Given the description of an element on the screen output the (x, y) to click on. 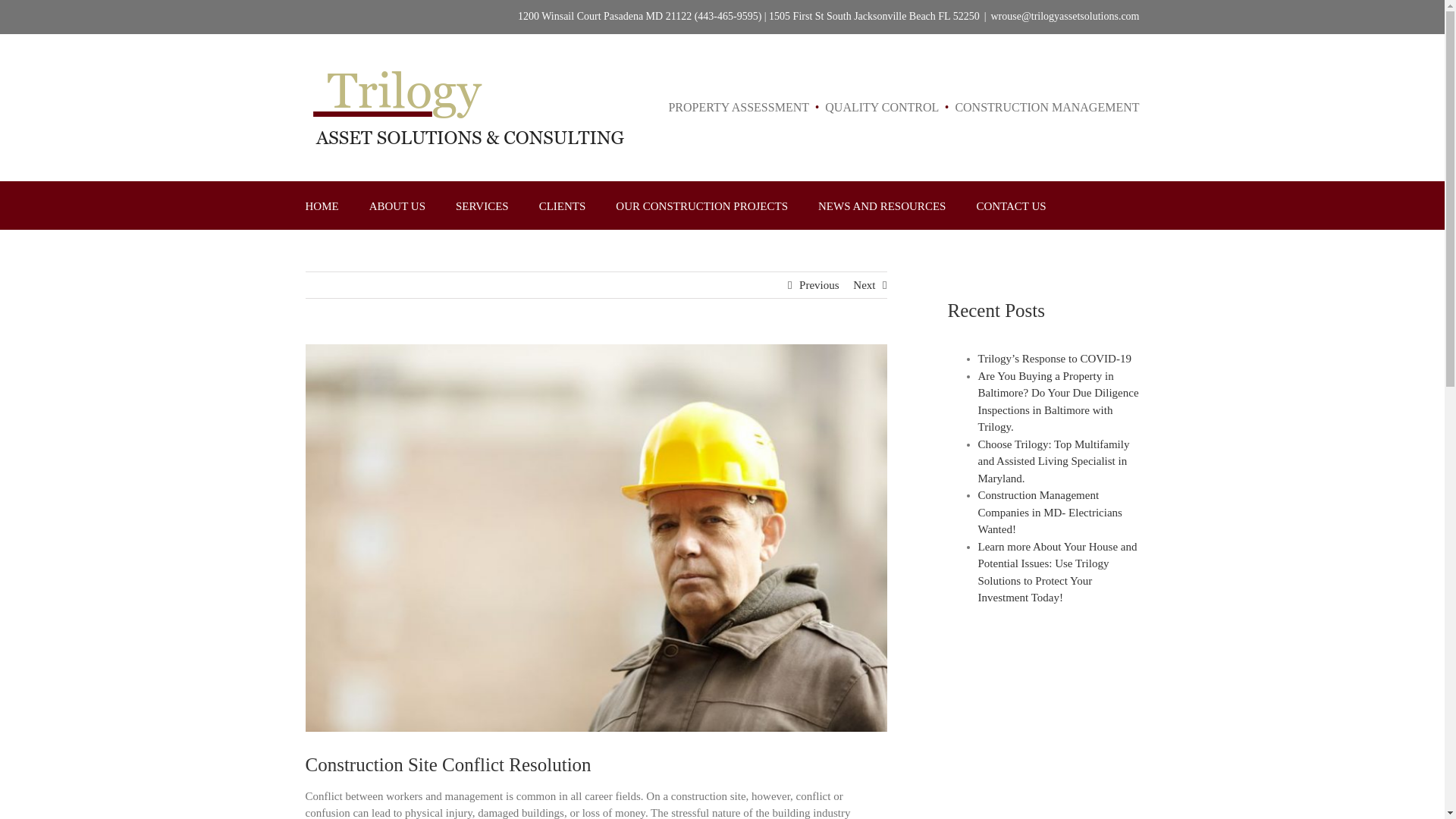
Previous (819, 284)
NEWS AND RESOURCES (881, 204)
CLIENTS (562, 204)
CONTACT US (1010, 204)
ABOUT US (397, 204)
OUR CONSTRUCTION PROJECTS (701, 204)
SERVICES (481, 204)
